Given the description of an element on the screen output the (x, y) to click on. 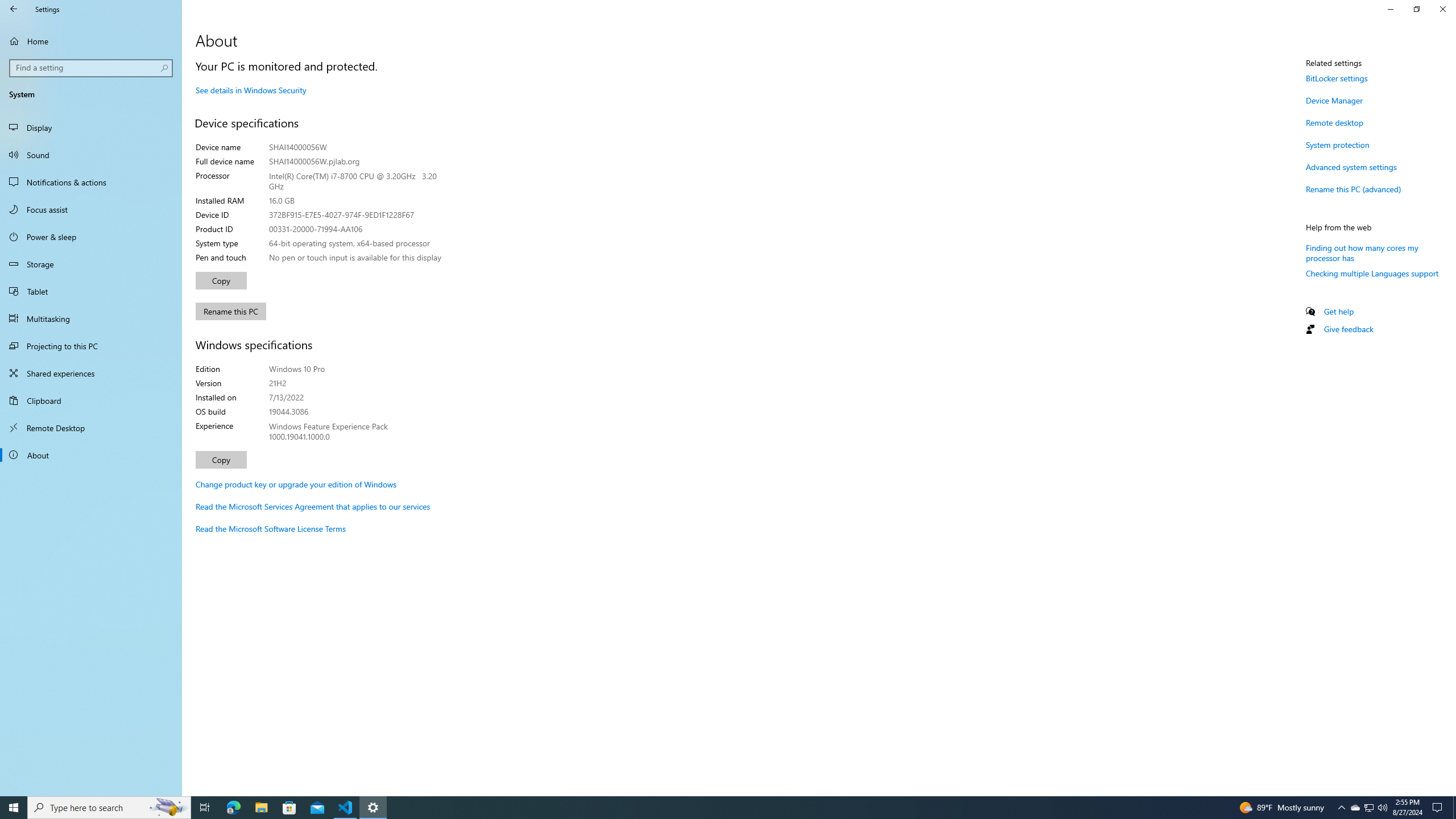
Sound (91, 154)
Projecting to this PC (91, 345)
Notifications & actions (91, 181)
System protection (1338, 144)
Search box, Find a setting (91, 67)
BitLocker settings (1336, 77)
See details in Windows Security (251, 89)
